Given the description of an element on the screen output the (x, y) to click on. 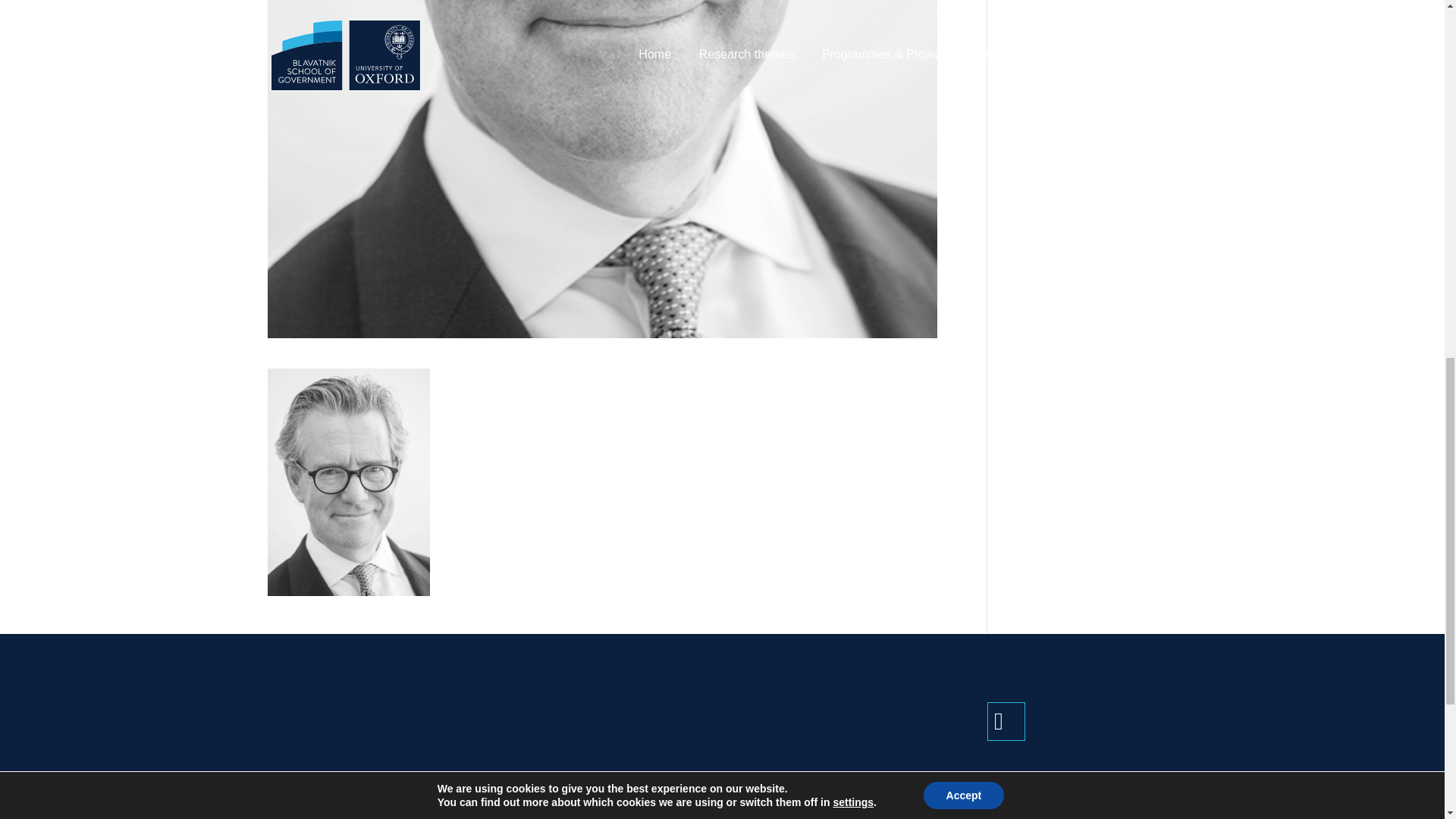
Home (765, 796)
Events (1008, 818)
People (1008, 796)
Research themes (801, 818)
